Given the description of an element on the screen output the (x, y) to click on. 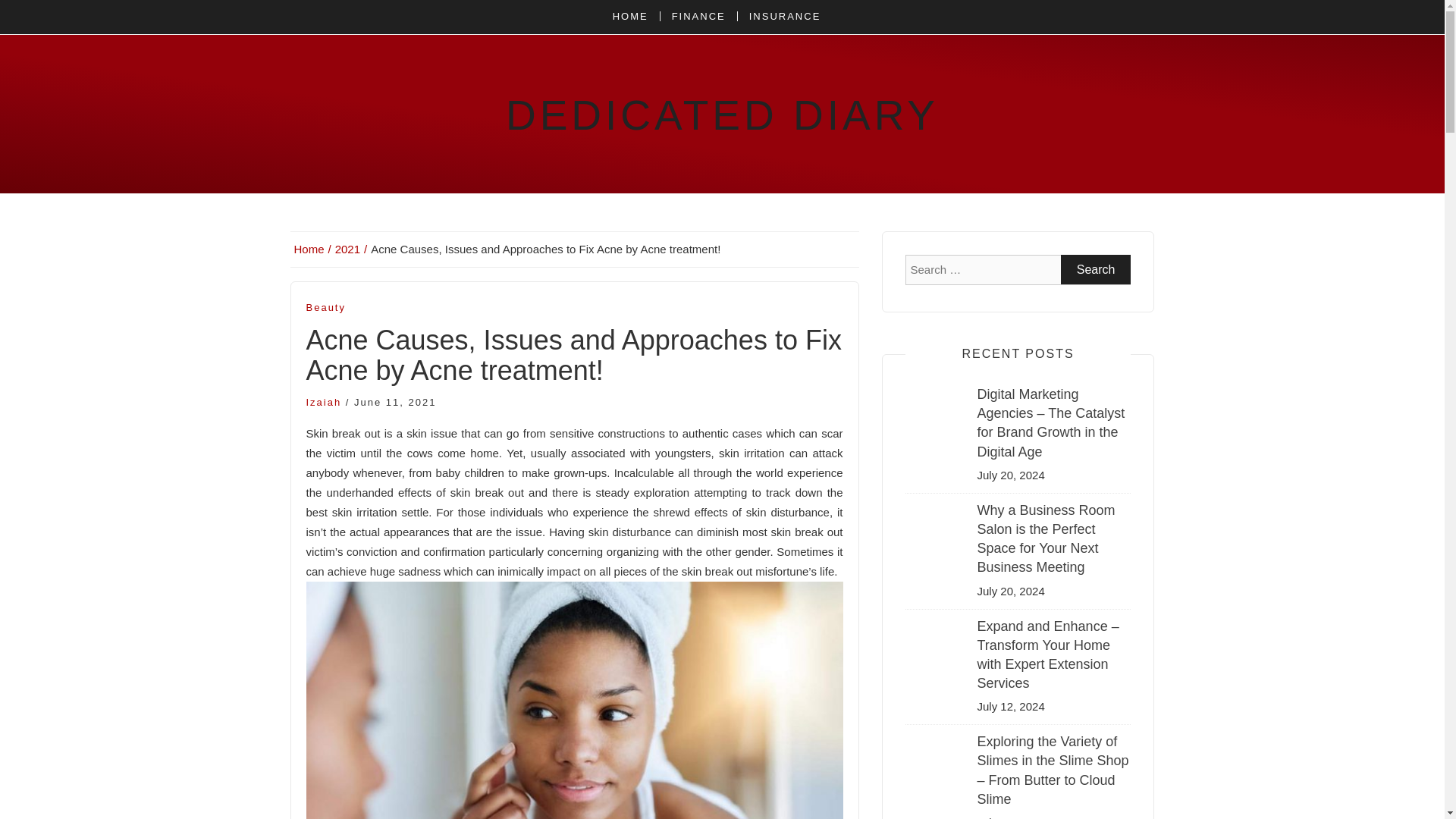
Search (1096, 269)
INSURANCE (784, 16)
Beauty (325, 307)
DEDICATED DIARY (722, 114)
2021 (351, 249)
Search (1096, 269)
Search (1096, 269)
FINANCE (697, 16)
HOME (635, 16)
